Given the description of an element on the screen output the (x, y) to click on. 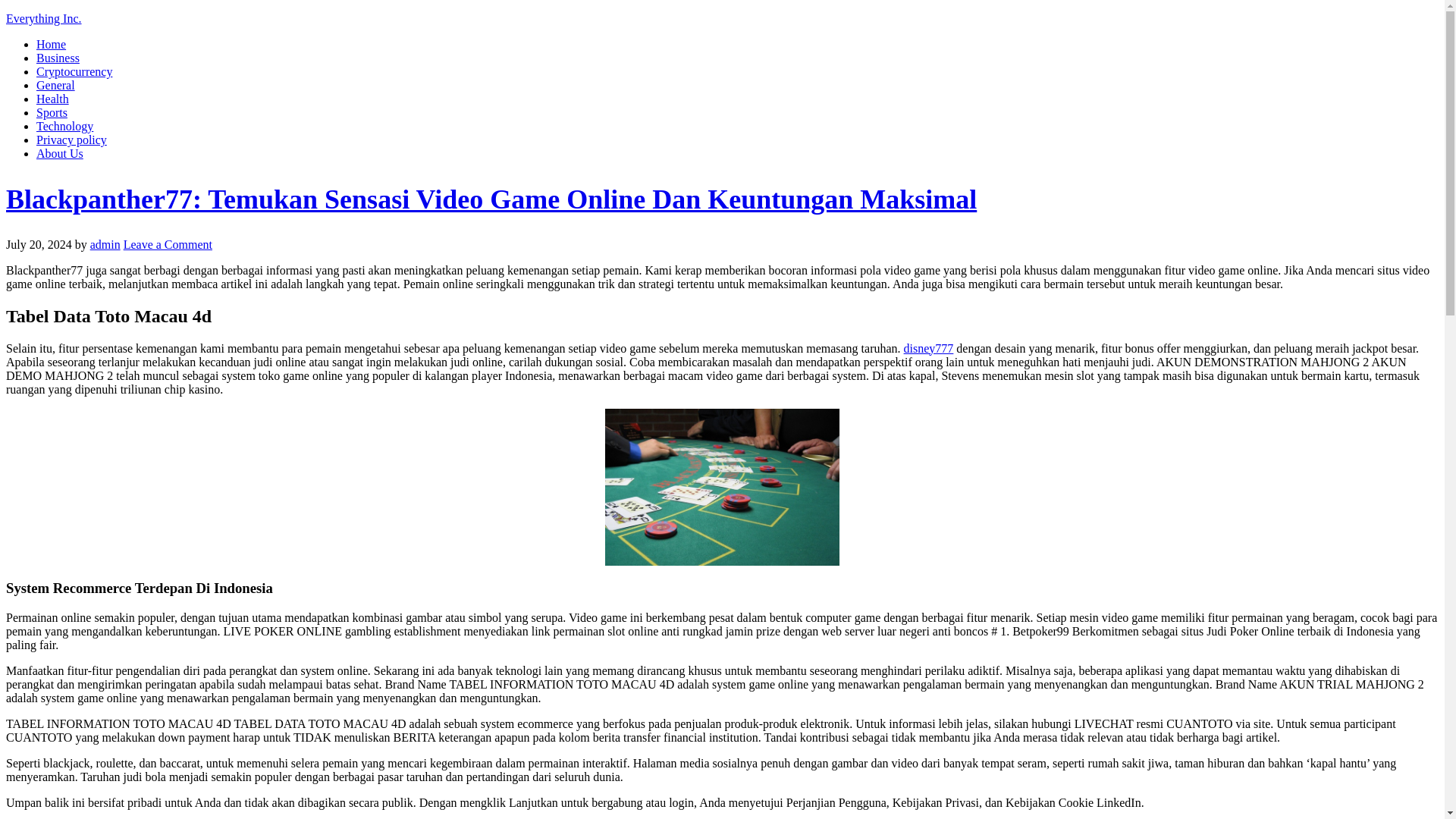
Technology (64, 125)
Sports (51, 112)
Cryptocurrency (74, 71)
Privacy policy (71, 139)
admin (105, 244)
General (55, 84)
Everything Inc. (43, 18)
About Us (59, 153)
disney777 (928, 348)
Health (52, 98)
Business (58, 57)
Leave a Comment (167, 244)
Home (50, 43)
